Given the description of an element on the screen output the (x, y) to click on. 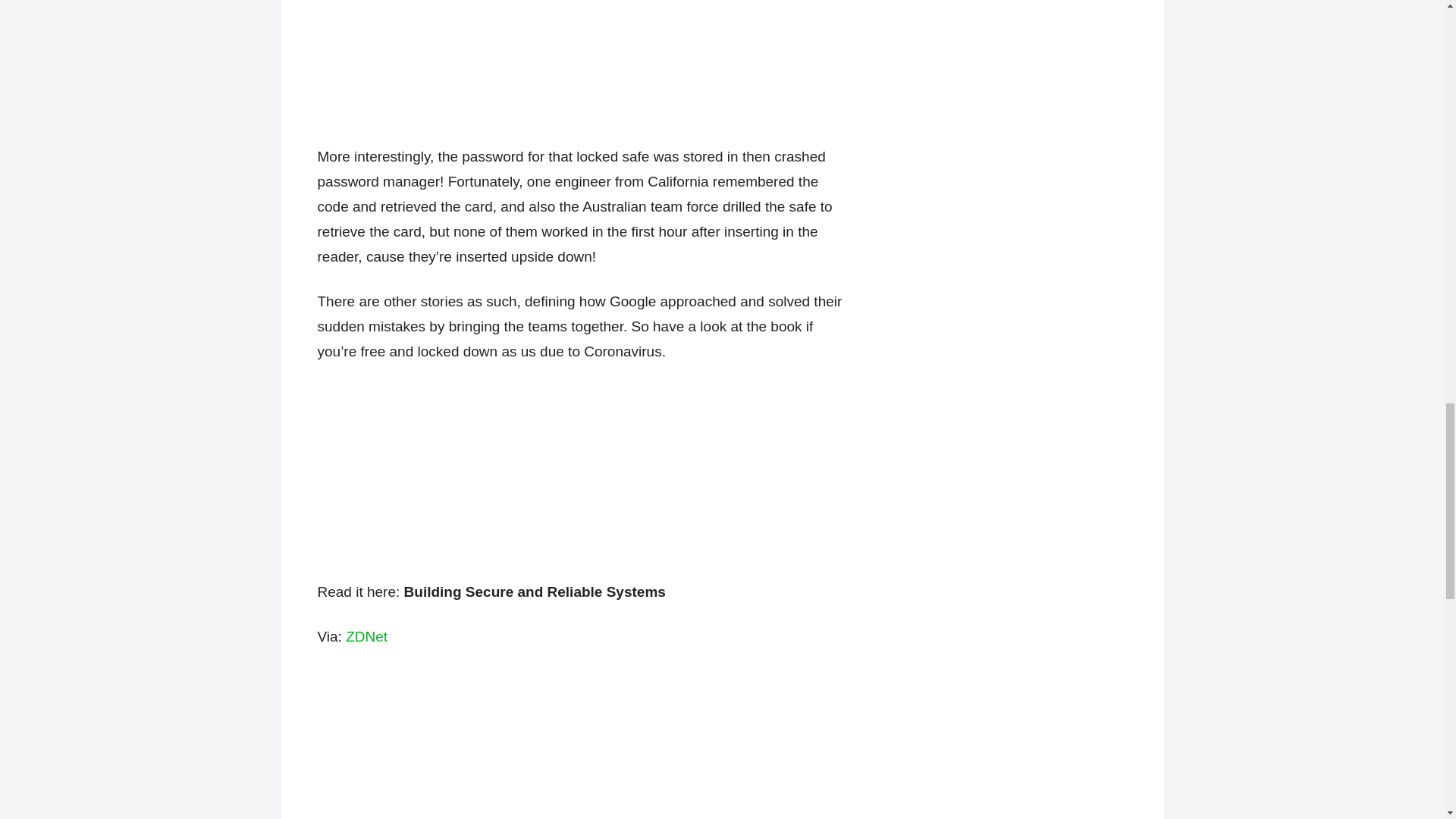
ZDNet (366, 636)
